Given the description of an element on the screen output the (x, y) to click on. 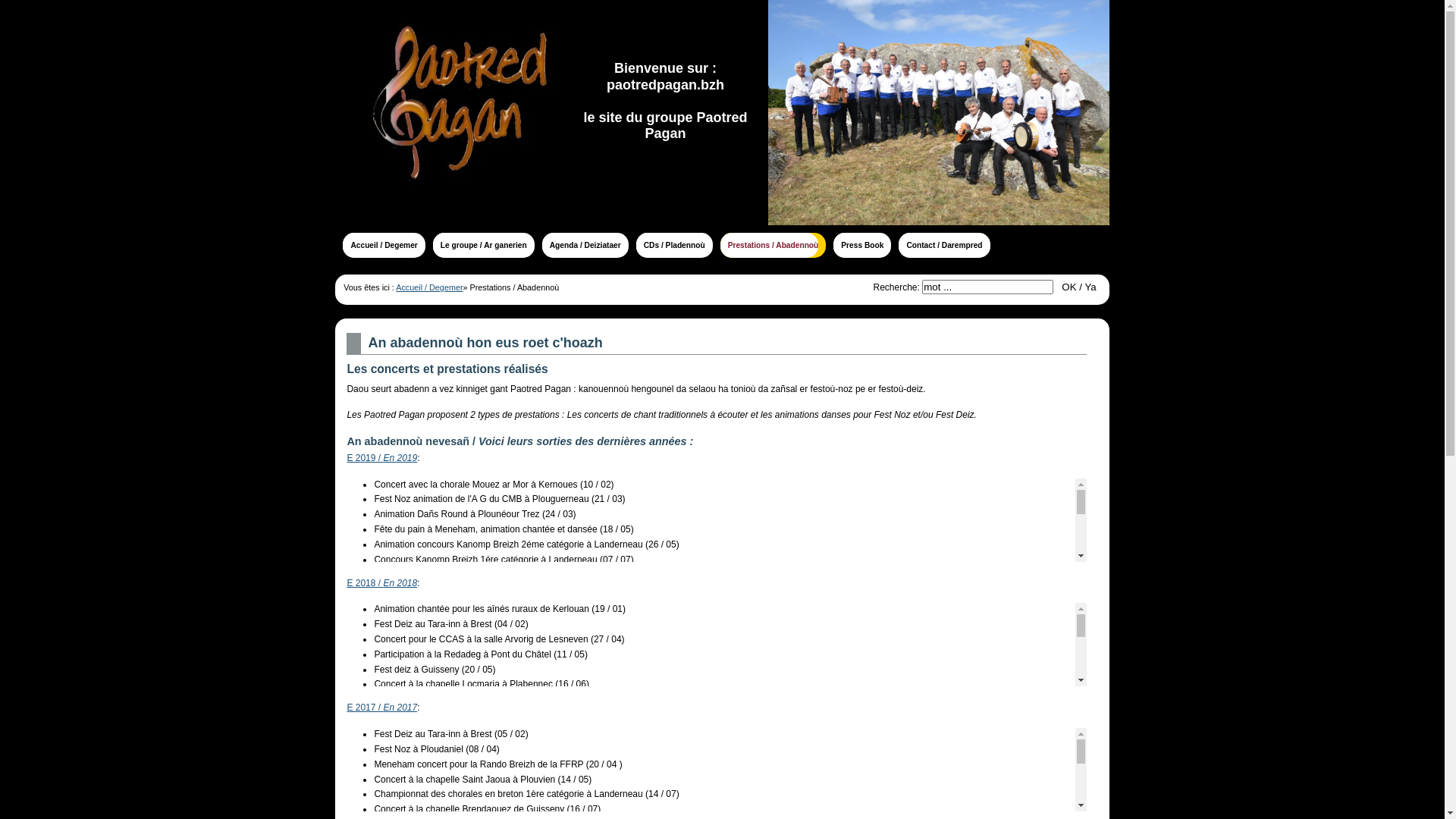
Contact / Darempred Element type: text (943, 244)
E 2019 / En 2019 Element type: text (381, 457)
Le groupe / Ar ganerien Element type: text (483, 244)
paotred pagan Element type: hover (938, 112)
Accueil / Degemer Element type: text (383, 244)
E 2017 / En 2017 Element type: text (381, 707)
E 2018 / En 2018 Element type: text (381, 582)
Agenda / Deiziataer Element type: text (585, 244)
Accueil / Degemer Element type: text (428, 286)
OK / Ya Element type: text (1080, 287)
Press Book Element type: text (862, 244)
logo Element type: hover (448, 112)
